Given the description of an element on the screen output the (x, y) to click on. 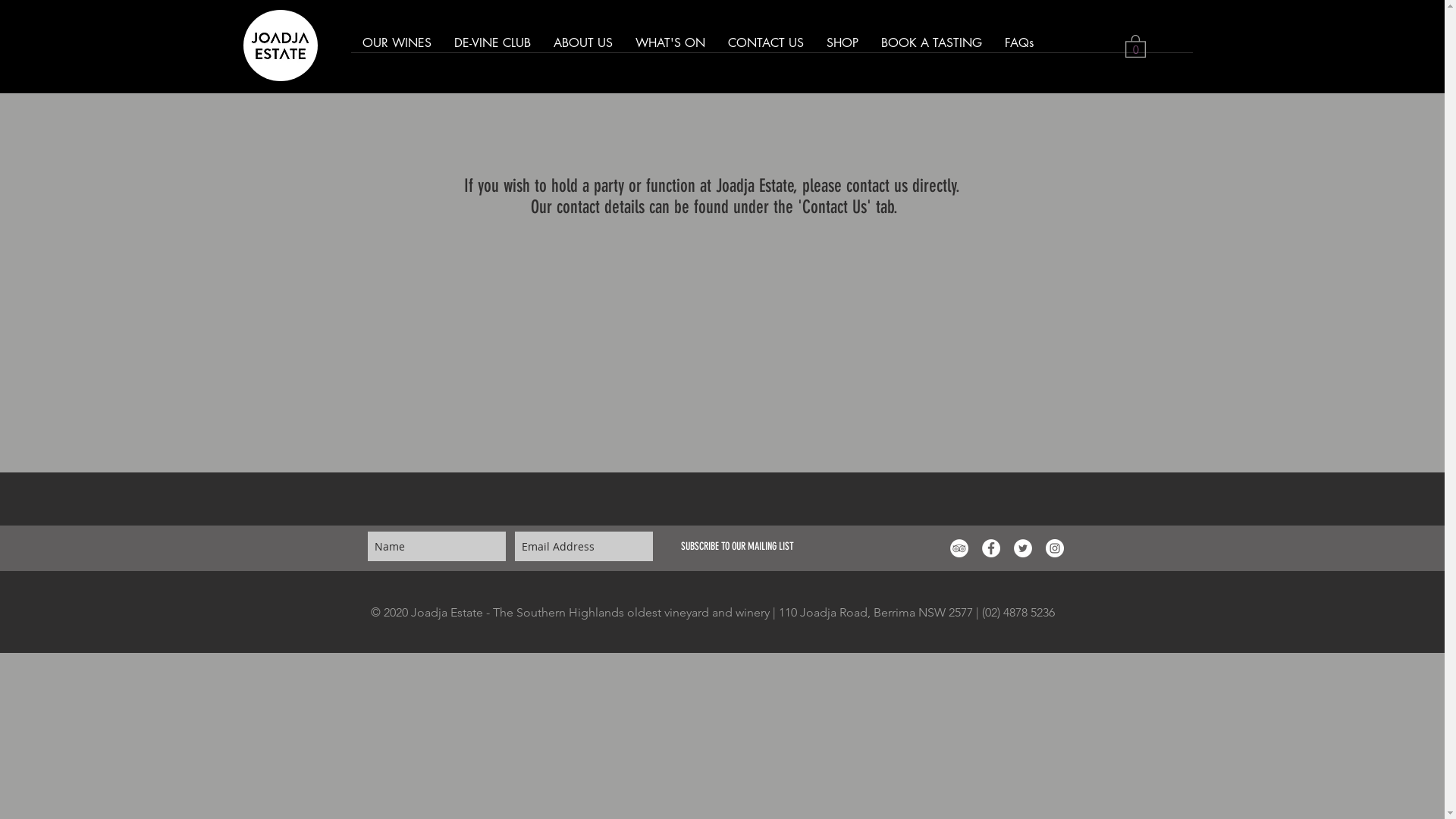
BOOK A TASTING Element type: text (930, 47)
FAQs Element type: text (1018, 47)
WHAT'S ON Element type: text (669, 47)
SUBSCRIBE TO OUR MAILING LIST Element type: text (736, 546)
DE-VINE CLUB Element type: text (492, 47)
OUR WINES Element type: text (396, 47)
0 Element type: text (1135, 45)
ABOUT US Element type: text (582, 47)
SHOP Element type: text (841, 47)
CONTACT US Element type: text (764, 47)
